Given the description of an element on the screen output the (x, y) to click on. 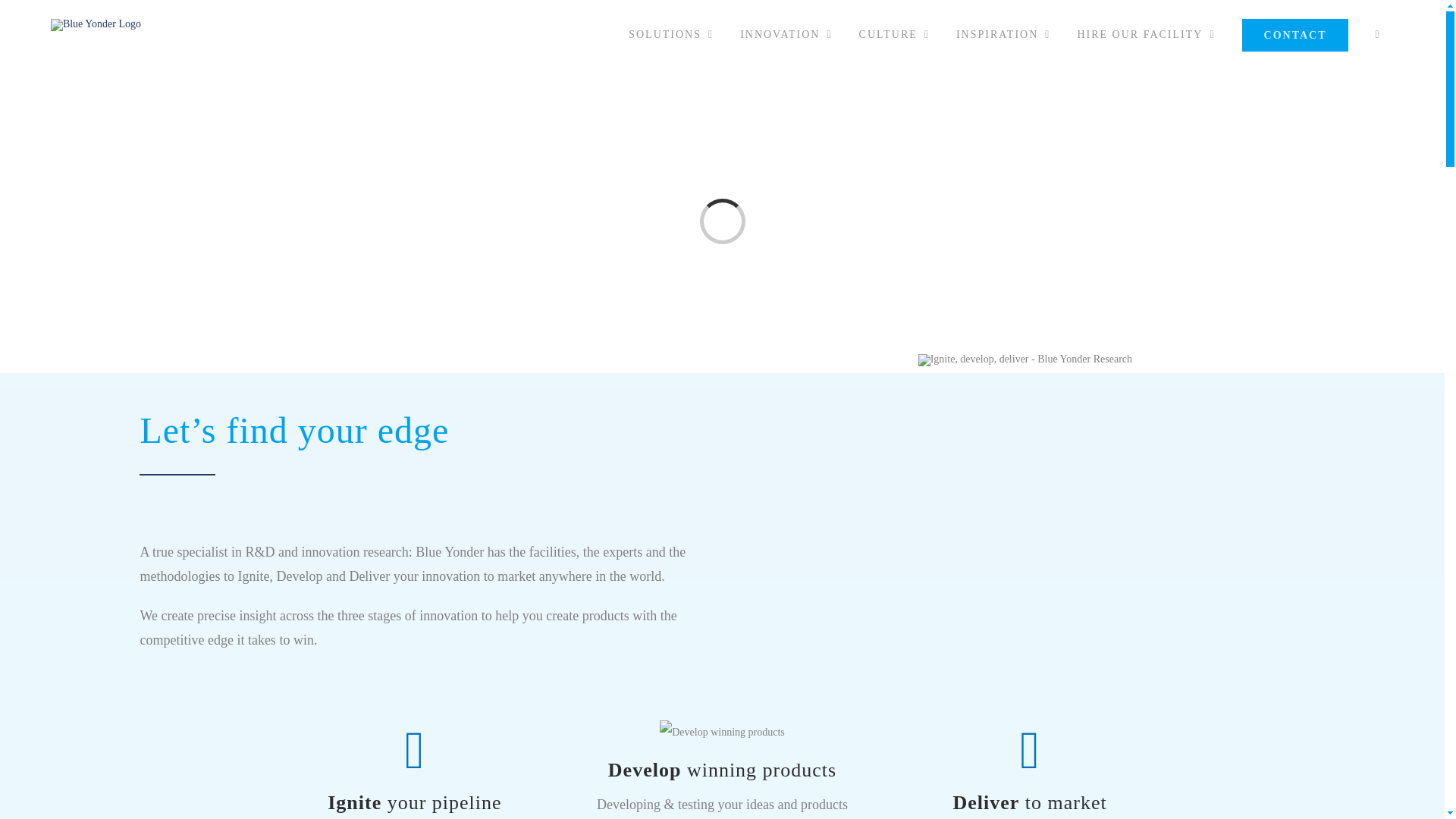
INNOVATION (785, 34)
CONTACT (1294, 34)
HIRE OUR FACILITY (1146, 34)
INSPIRATION (1002, 34)
CULTURE (893, 34)
SOLUTIONS (670, 34)
